Given the description of an element on the screen output the (x, y) to click on. 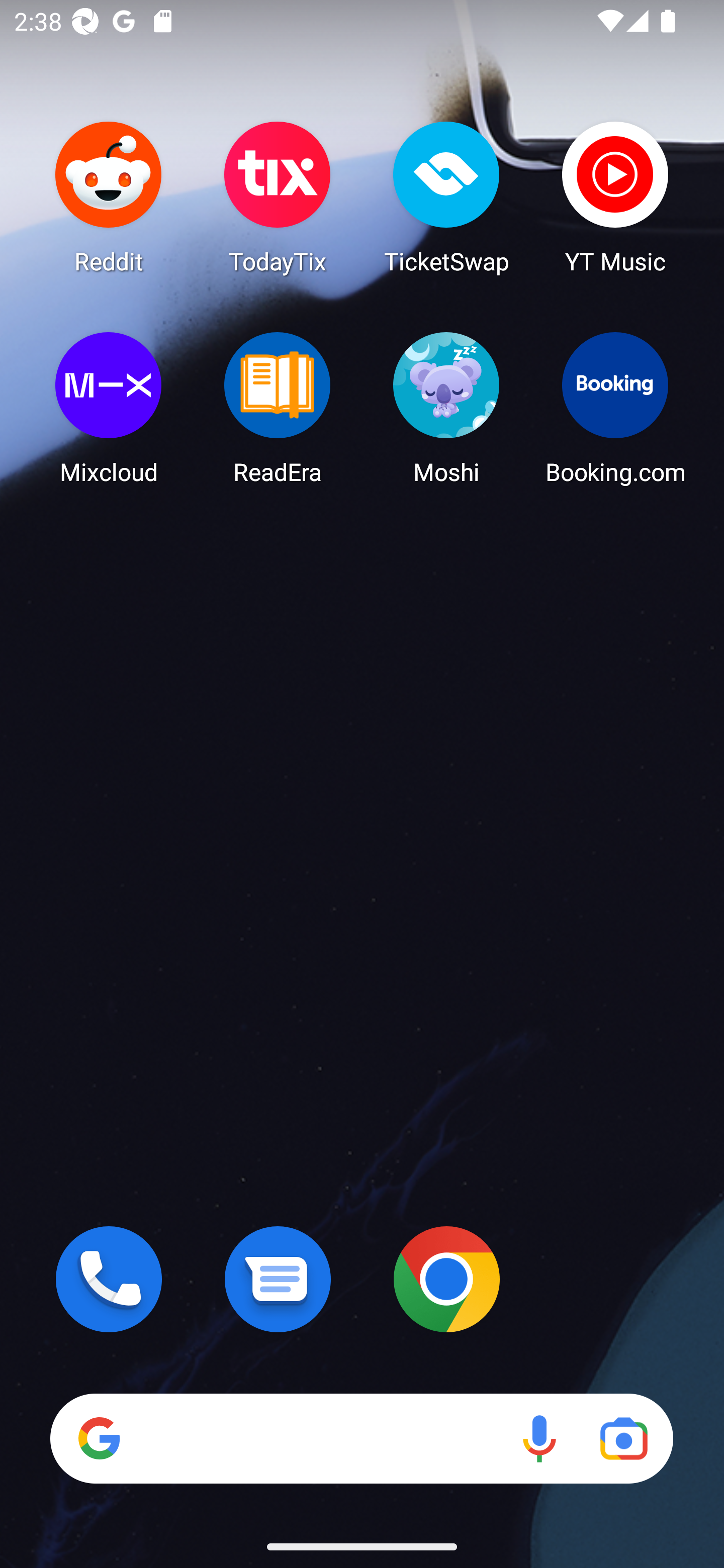
Reddit (108, 196)
TodayTix (277, 196)
TicketSwap (445, 196)
YT Music (615, 196)
Mixcloud (108, 407)
ReadEra (277, 407)
Moshi (445, 407)
Booking.com (615, 407)
Phone (108, 1279)
Messages (277, 1279)
Chrome (446, 1279)
Search Voice search Google Lens (361, 1438)
Voice search (539, 1438)
Google Lens (623, 1438)
